Given the description of an element on the screen output the (x, y) to click on. 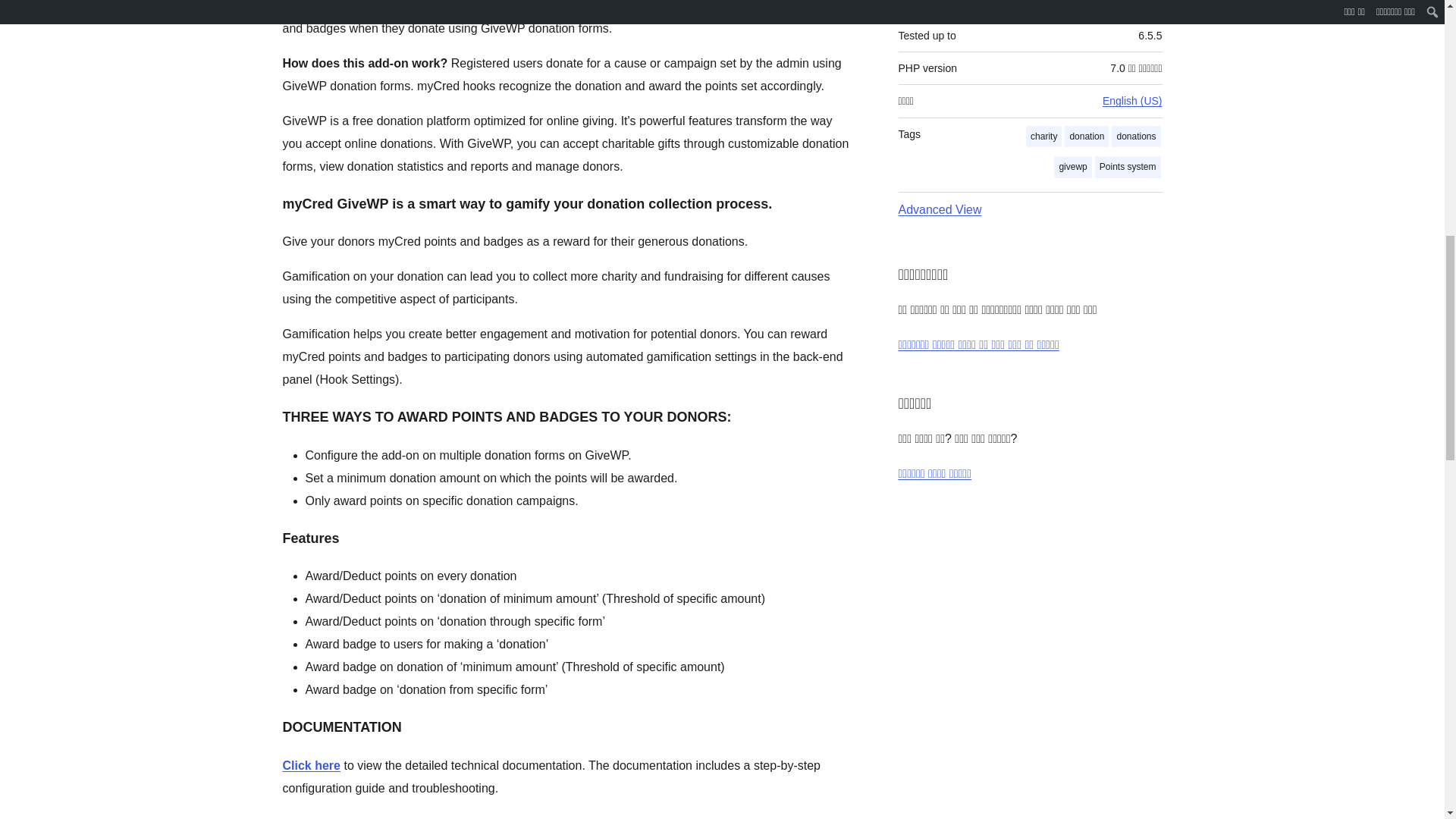
Click here (310, 765)
